Given the description of an element on the screen output the (x, y) to click on. 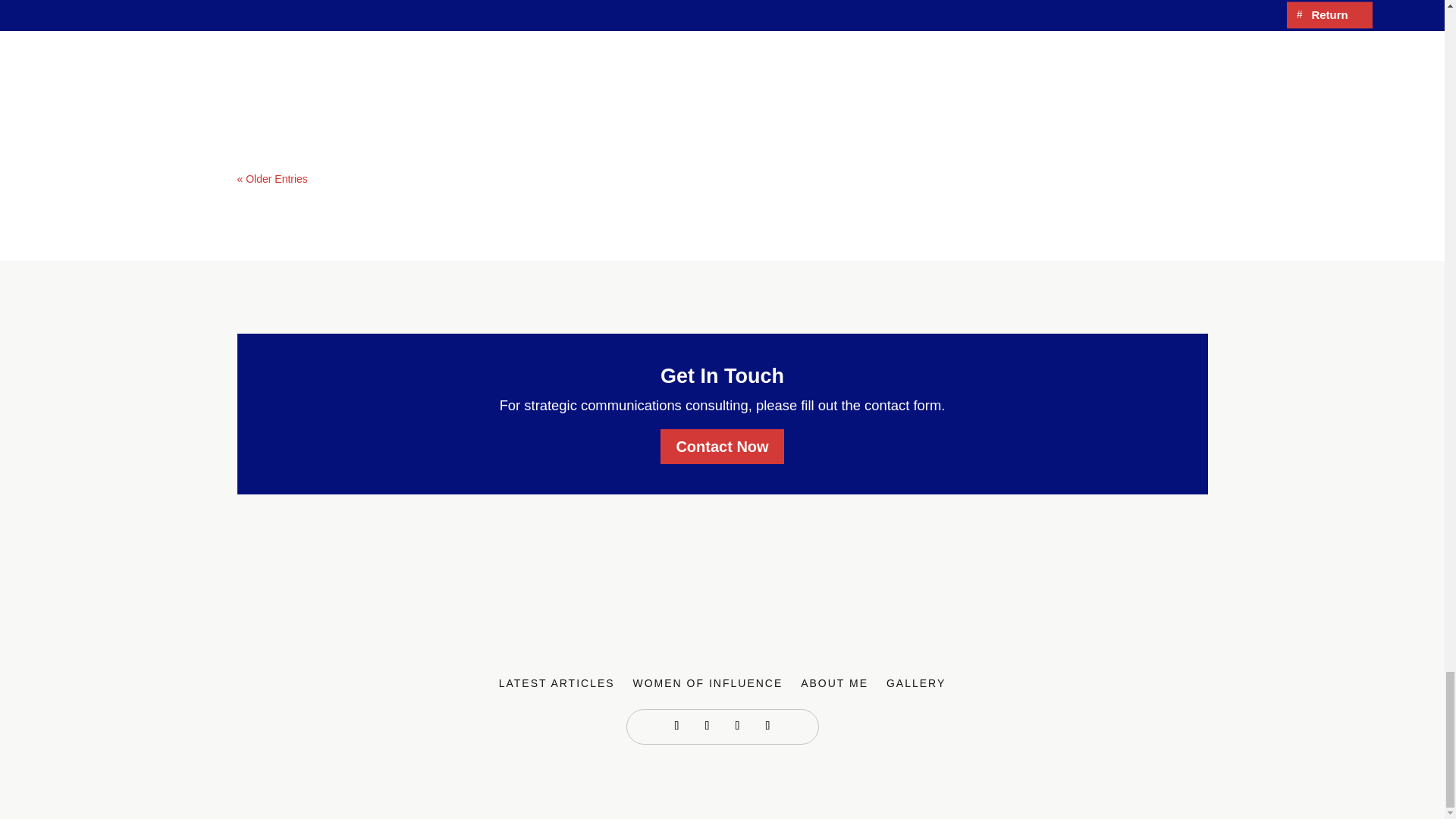
Follow on Twitter (737, 725)
Follow on LinkedIn (706, 725)
Follow on Facebook (675, 725)
